Given the description of an element on the screen output the (x, y) to click on. 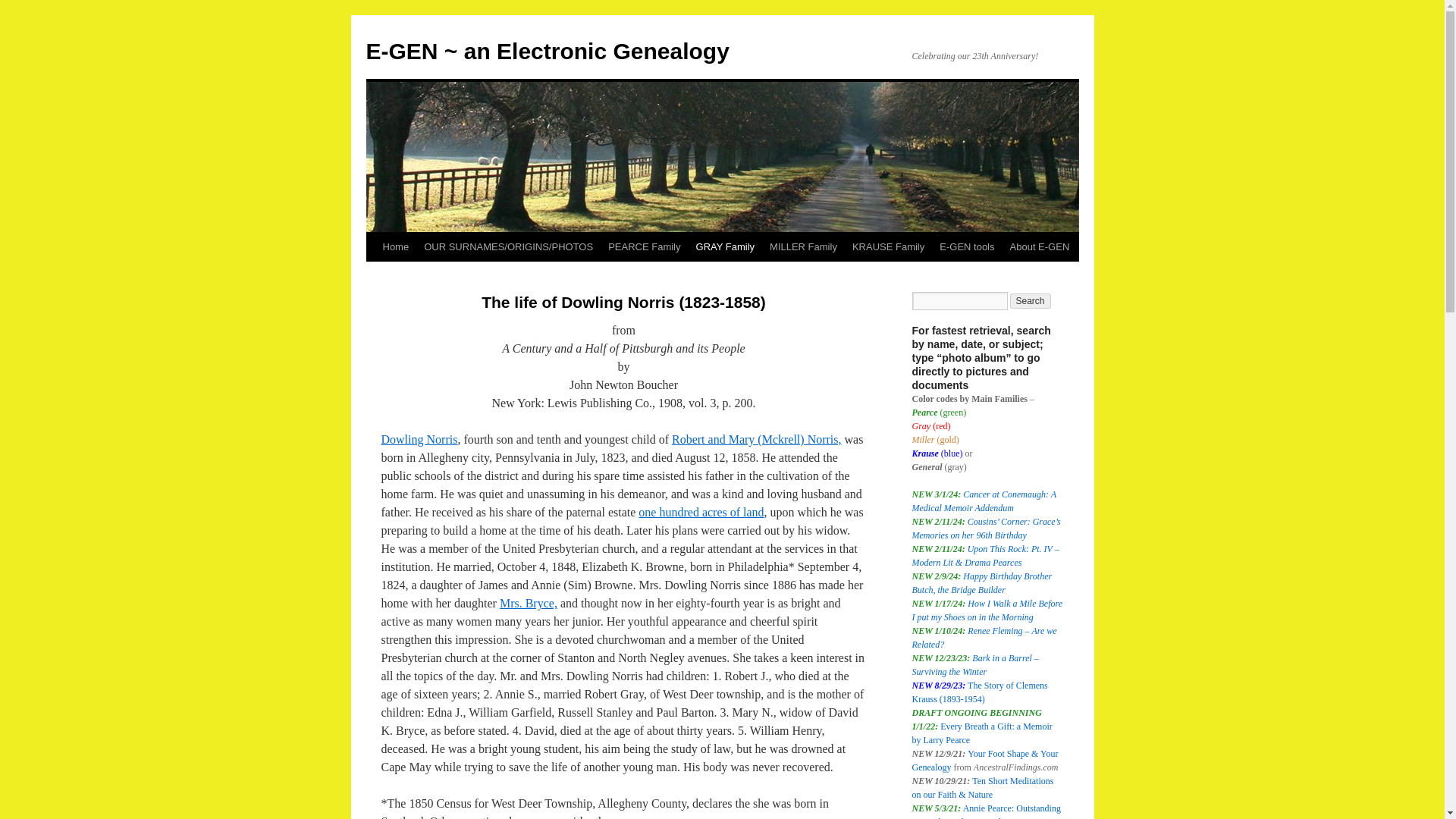
Home (395, 246)
Search (1030, 300)
PEARCE Family (643, 246)
